Given the description of an element on the screen output the (x, y) to click on. 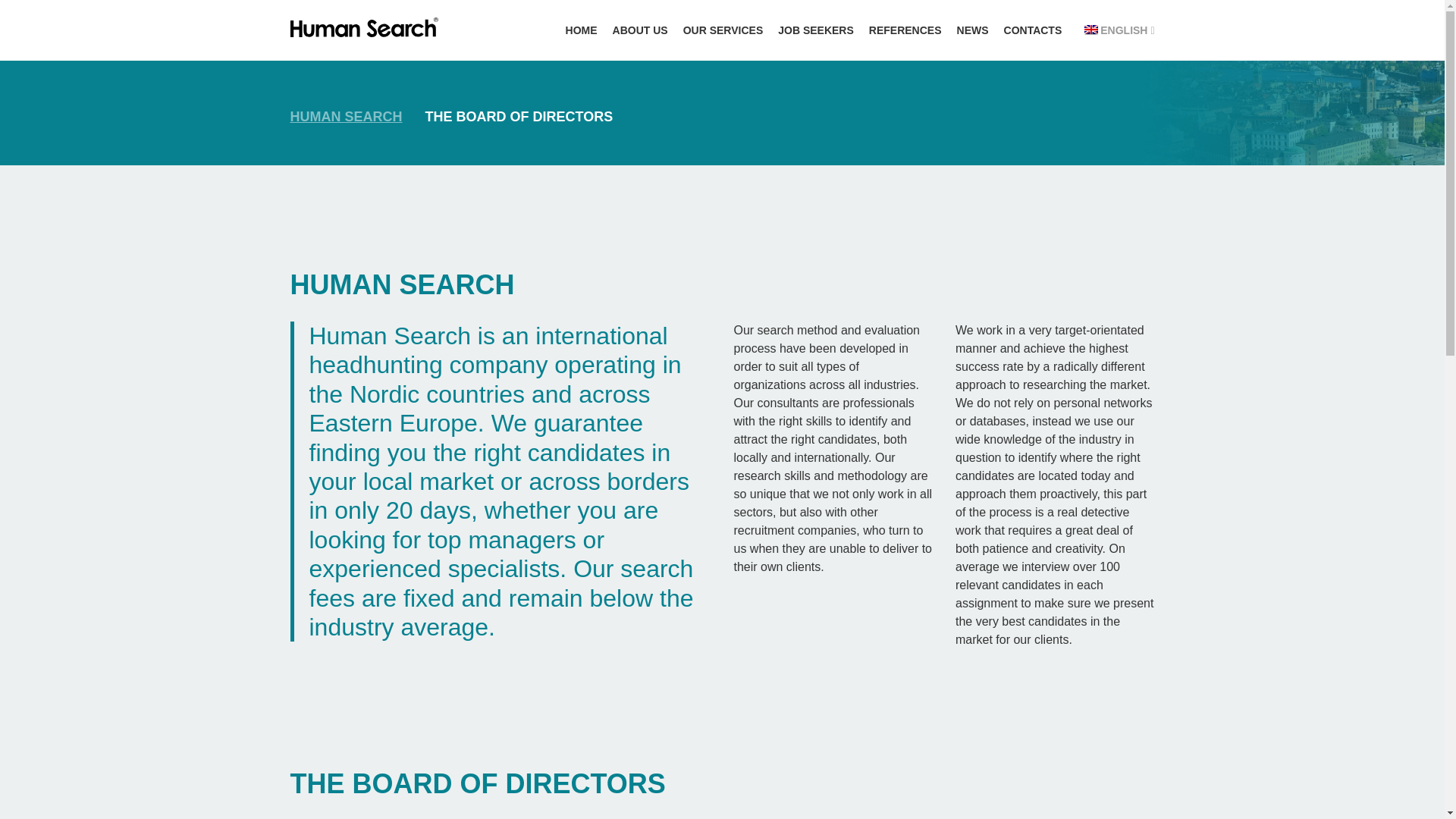
OUR SERVICES (723, 30)
CONTACTS (1032, 30)
HOME (581, 30)
THE BOARD OF DIRECTORS (518, 116)
REFERENCES (905, 30)
NEWS (972, 30)
ENGLISH (1119, 29)
Human Search (346, 116)
JOB SEEKERS (815, 30)
Human Search (363, 26)
ABOUT US (640, 30)
HUMAN SEARCH (346, 116)
